Given the description of an element on the screen output the (x, y) to click on. 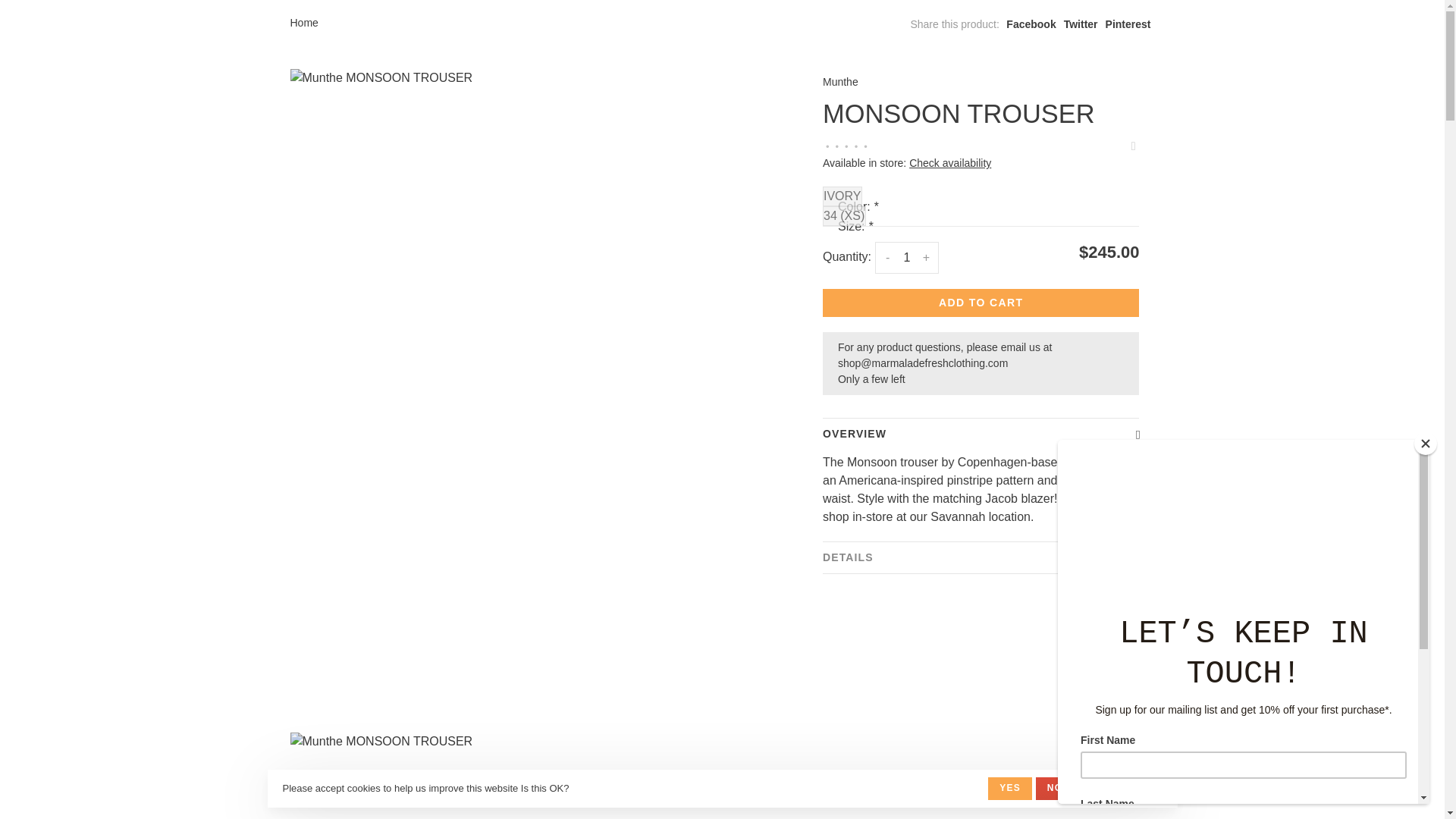
1 (907, 257)
